Given the description of an element on the screen output the (x, y) to click on. 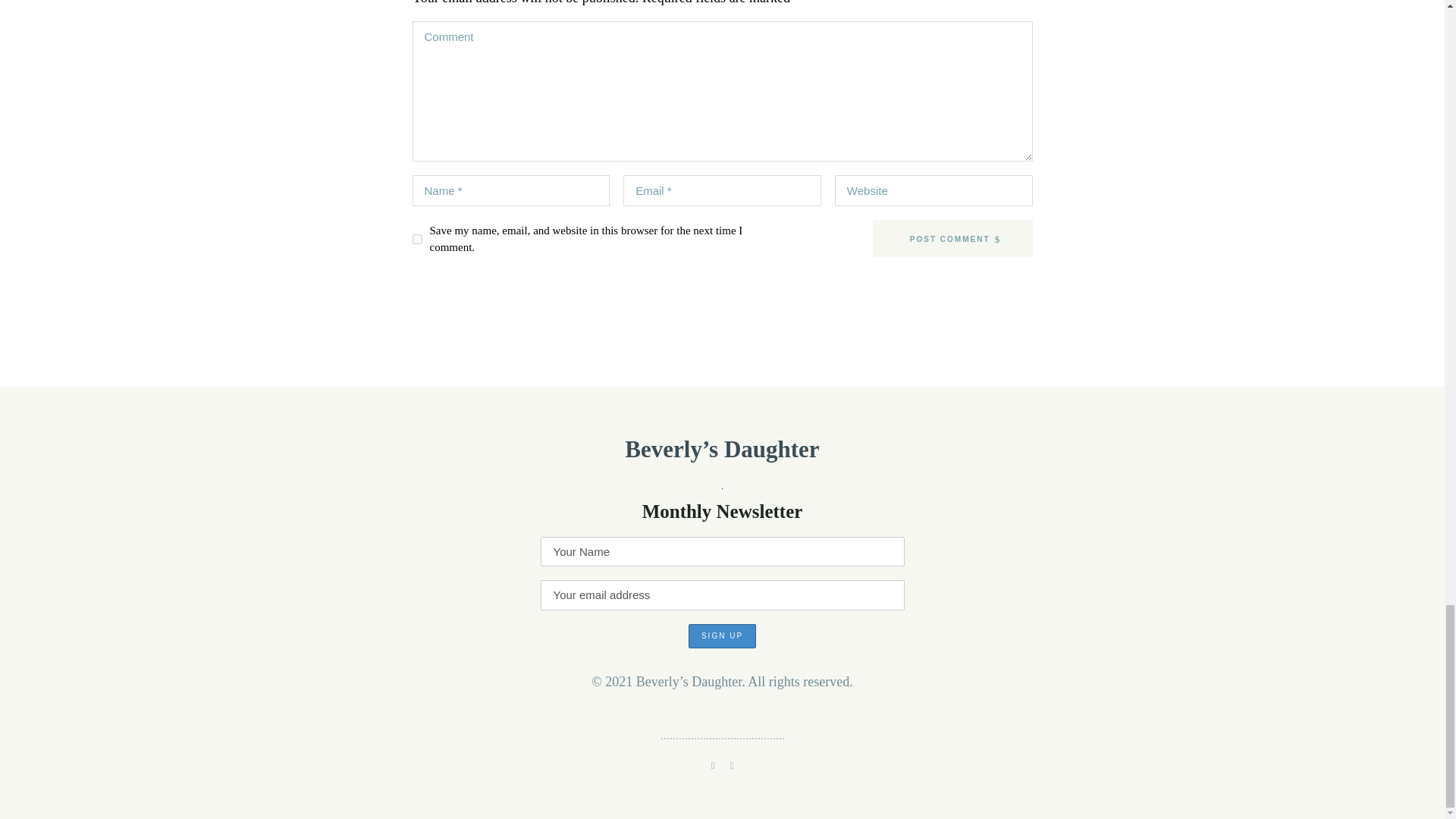
yes (417, 239)
Sign Up (721, 636)
POST COMMENT (952, 238)
Sign Up (721, 636)
